Given the description of an element on the screen output the (x, y) to click on. 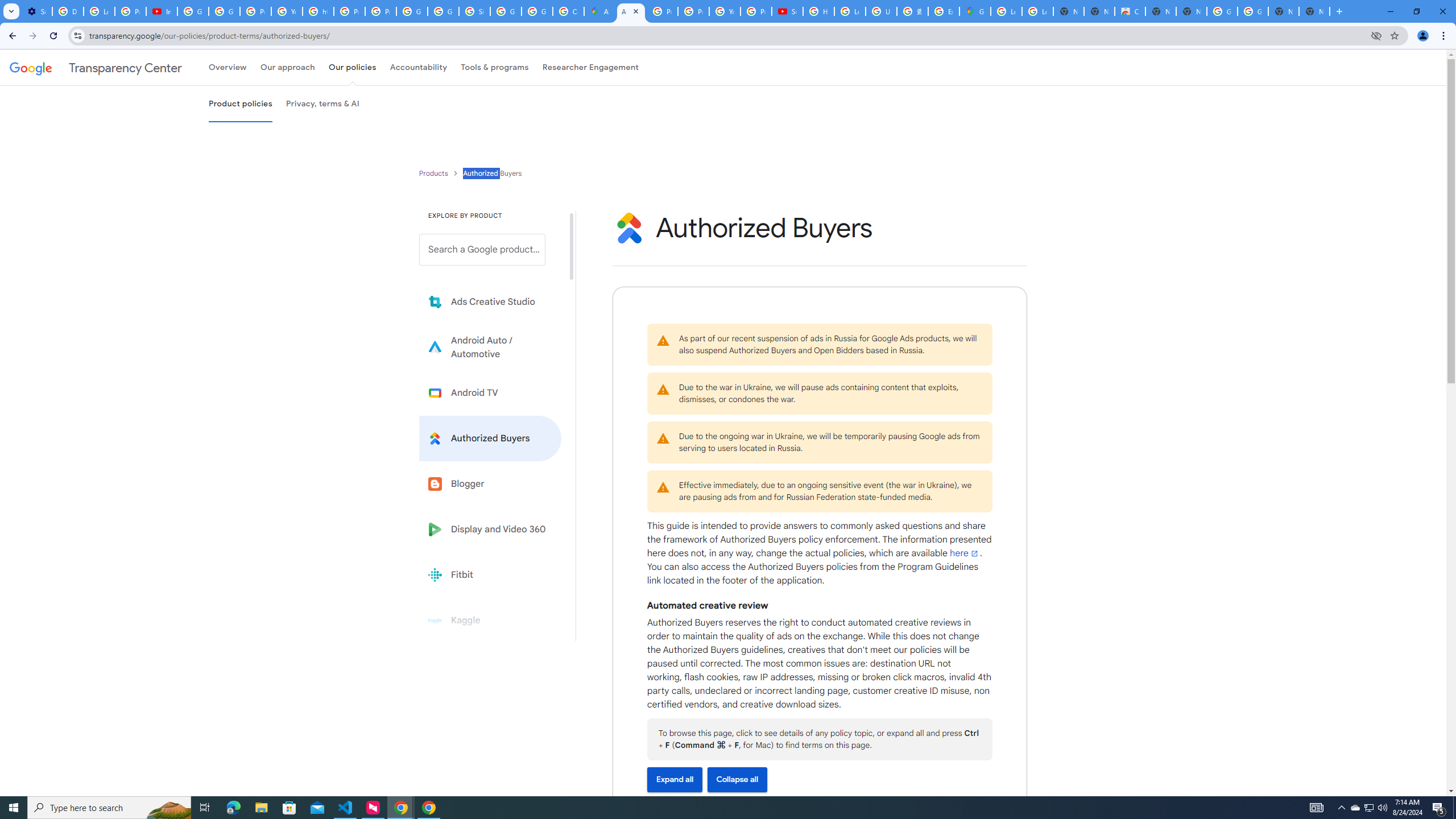
Privacy Help Center - Policies Help (349, 11)
Learn more about Android Auto (490, 347)
Display and Video 360 (490, 529)
Expand all (674, 779)
Tools & programs (494, 67)
Kaggle (490, 619)
Delete photos & videos - Computer - Google Photos Help (67, 11)
